Given the description of an element on the screen output the (x, y) to click on. 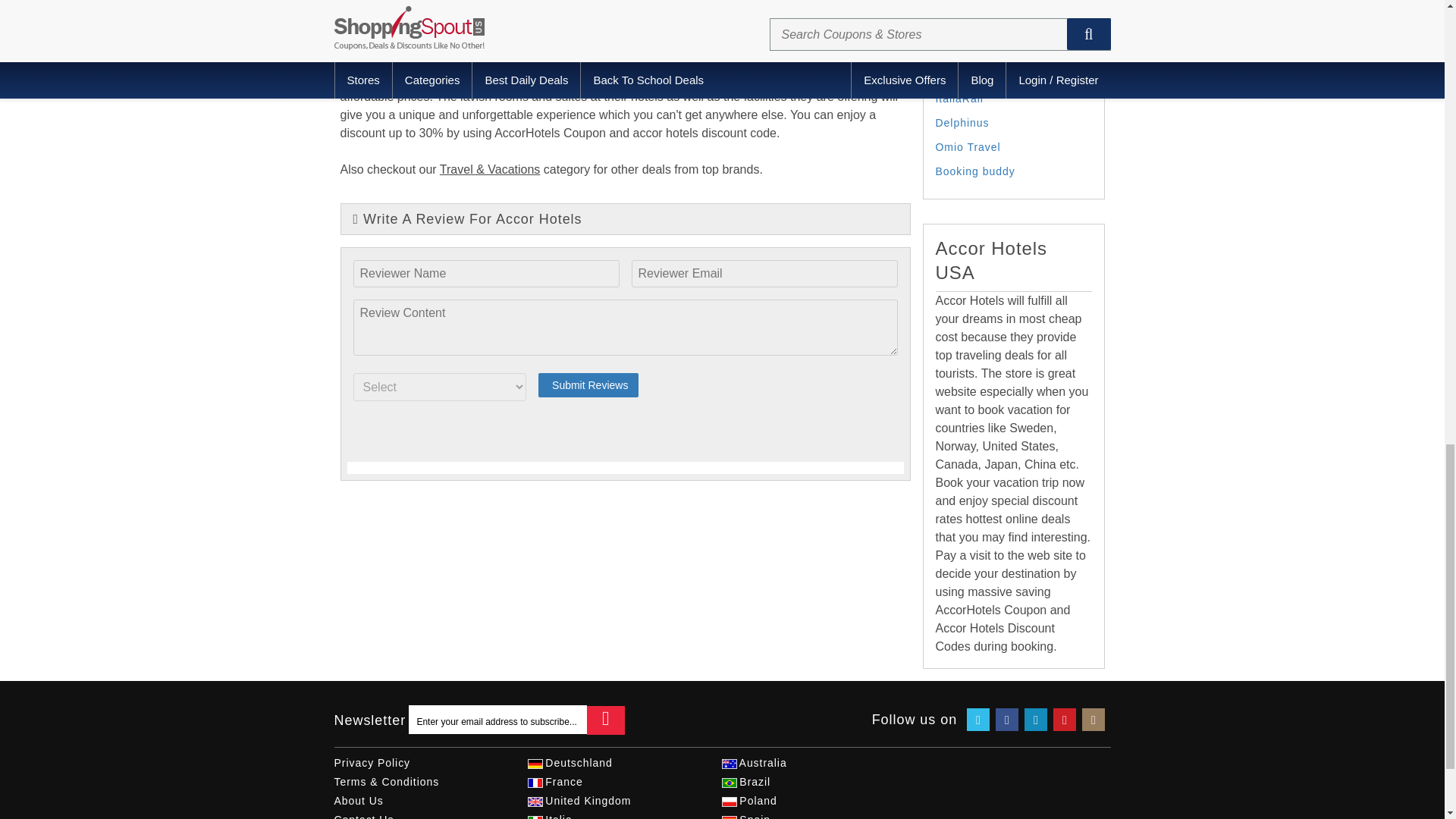
CheapOair (964, 3)
France (534, 782)
Delphinus (963, 122)
Deutschland (534, 764)
ItaliaRail (960, 98)
Poland (728, 801)
Qatar Airways (973, 73)
Lets Ferry (963, 25)
Great Britan (534, 801)
Bazil (728, 782)
Australia (728, 764)
Submit Reviews (588, 385)
Avoya Travel (971, 50)
